Given the description of an element on the screen output the (x, y) to click on. 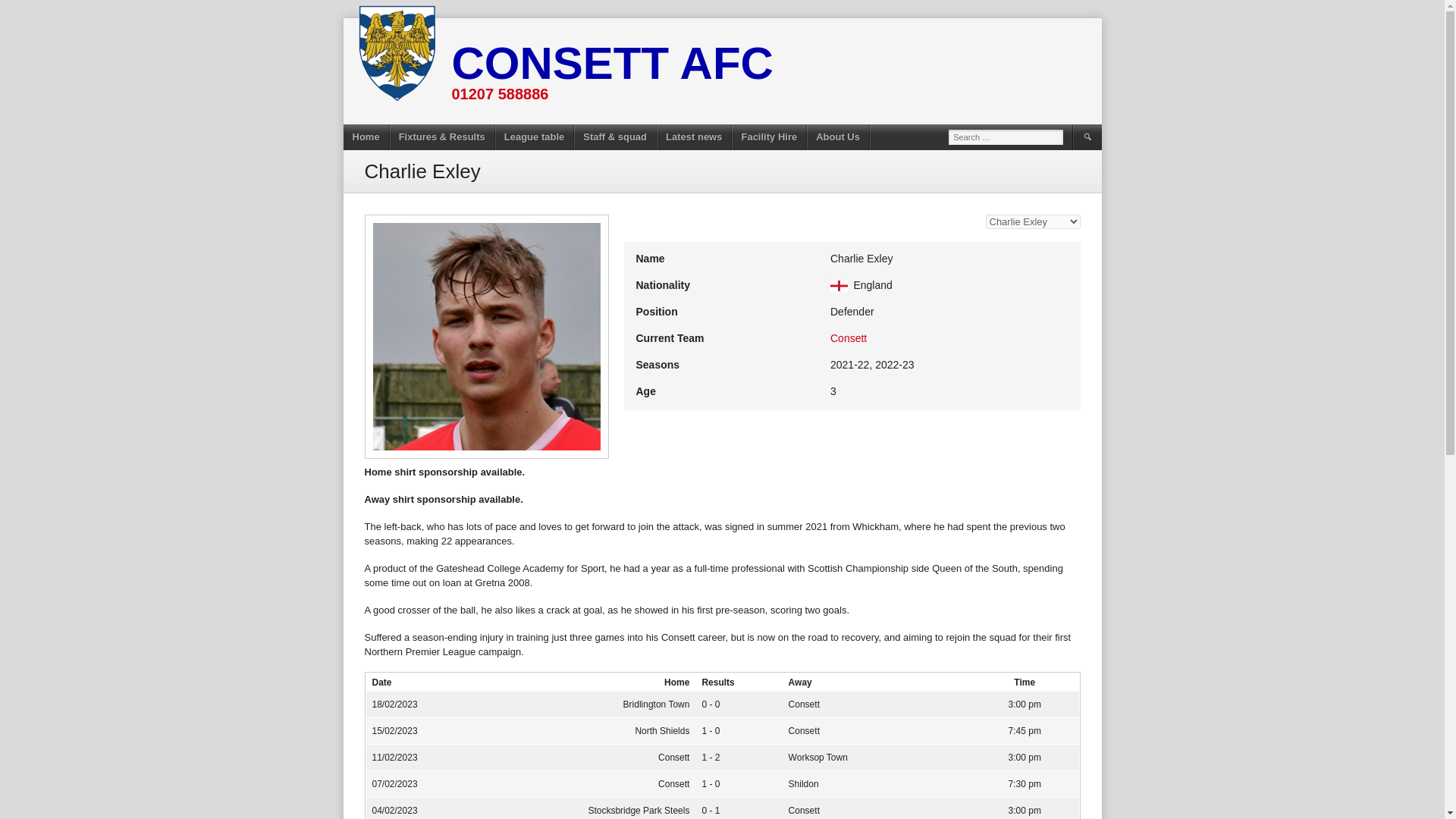
1 - 2 (710, 757)
League table (534, 136)
0 - 0 (710, 704)
Consett (847, 337)
3:00 pm (1025, 704)
3:00 pm (1025, 757)
Consett (673, 757)
CONSETT AFC (612, 62)
Consett (804, 704)
